Given the description of an element on the screen output the (x, y) to click on. 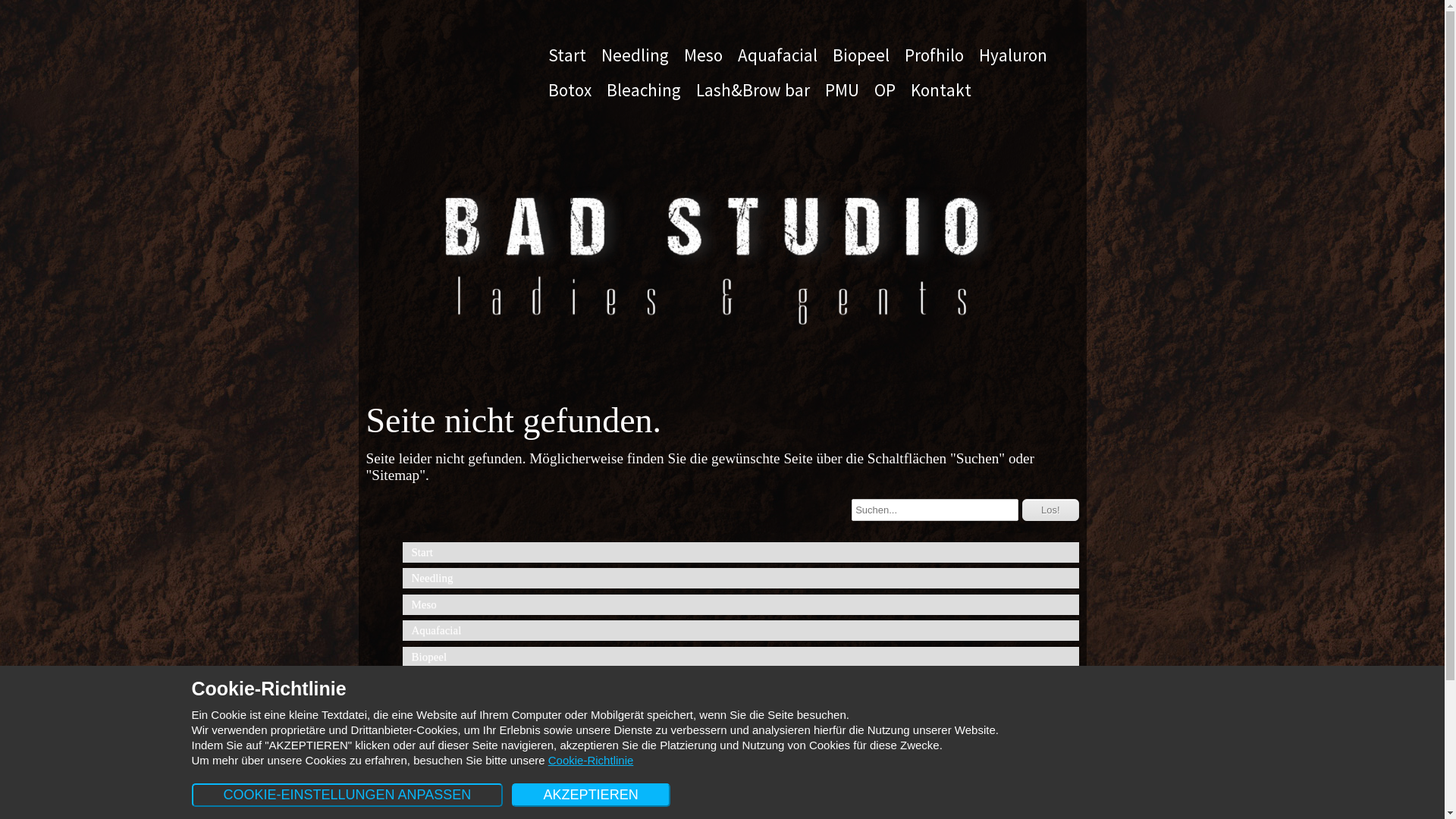
Aquafacial Element type: text (776, 54)
Biopeel Element type: text (739, 656)
COOKIE-EINSTELLUNGEN ANPASSEN Element type: text (346, 794)
Cookie-Richtlinie Element type: text (590, 759)
Botox Element type: text (739, 734)
Kontakt Element type: text (940, 89)
Profhilo Element type: text (739, 682)
PMU Element type: text (842, 89)
Los! Element type: text (1050, 509)
Meso Element type: text (703, 54)
Bleaching Element type: text (739, 761)
AKZEPTIEREN Element type: text (590, 794)
Meso Element type: text (739, 604)
Biopeel Element type: text (860, 54)
Botox Element type: text (568, 89)
Start Element type: text (566, 54)
Needling Element type: text (634, 54)
OP Element type: text (883, 89)
Hyaluron Element type: text (1012, 54)
Start Element type: text (739, 552)
Hyaluron Element type: text (739, 709)
Bleaching Element type: text (643, 89)
Needling Element type: text (739, 577)
Profhilo Element type: text (933, 54)
Aquafacial Element type: text (739, 630)
Lash&Brow bar Element type: text (752, 89)
Lash&Brow bar Element type: text (739, 787)
